Given the description of an element on the screen output the (x, y) to click on. 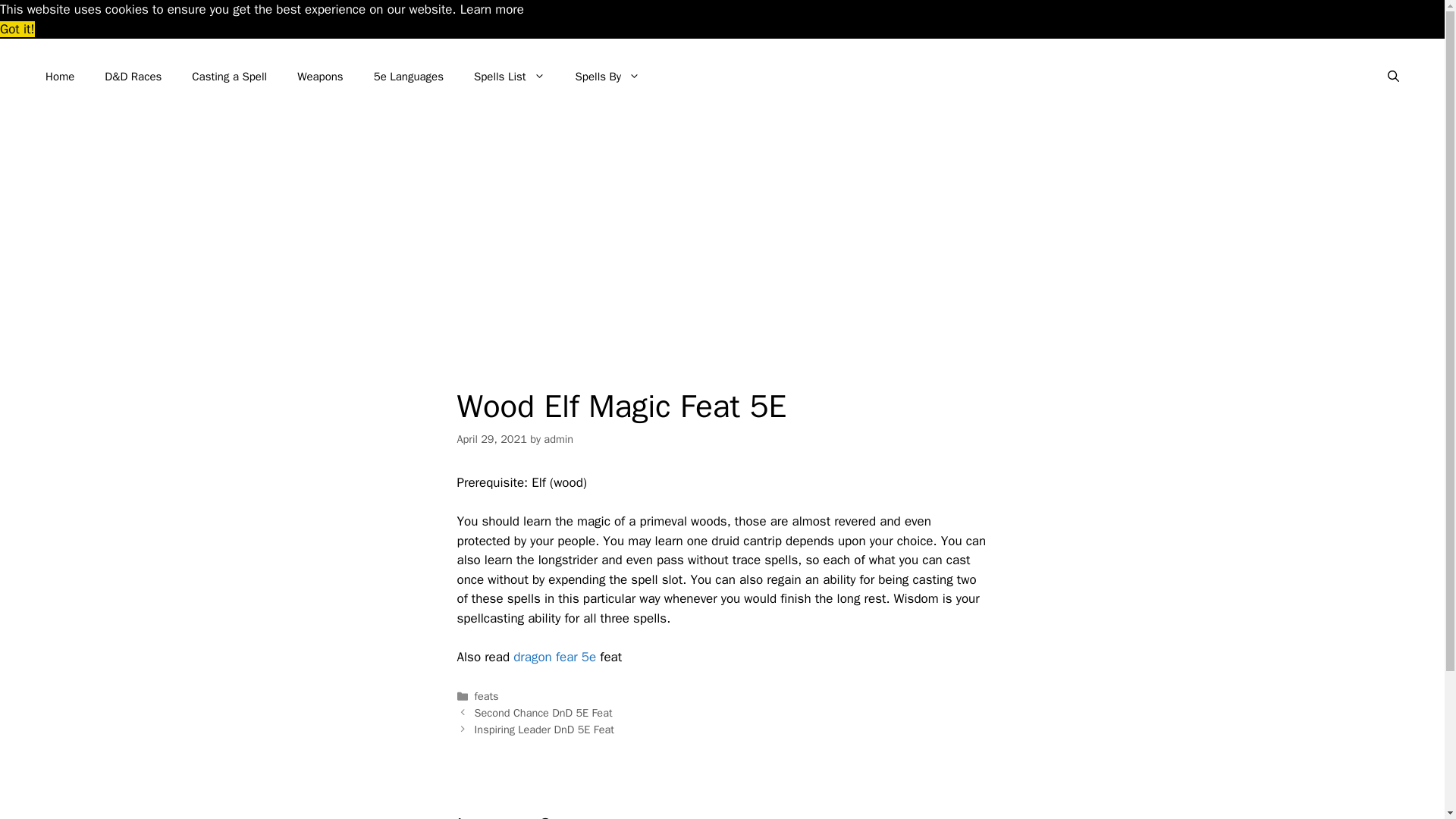
Learn more (492, 9)
Weapons (320, 76)
Got it! (17, 28)
Spells By (608, 76)
Home (59, 76)
5e Languages (408, 76)
Spells List (509, 76)
View all posts by admin (558, 438)
Casting a Spell (229, 76)
